Given the description of an element on the screen output the (x, y) to click on. 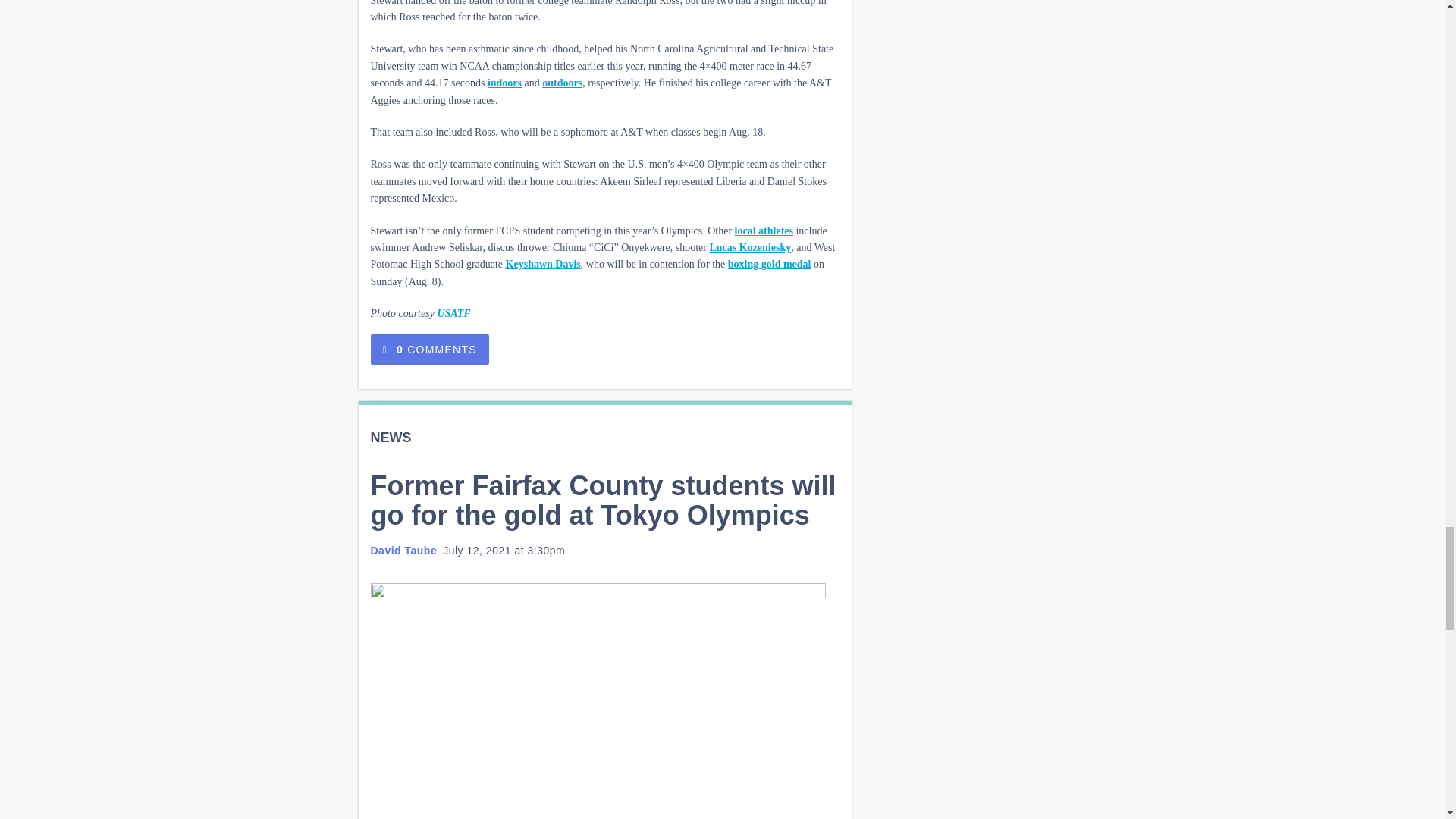
Posts by David Taube (402, 550)
